Given the description of an element on the screen output the (x, y) to click on. 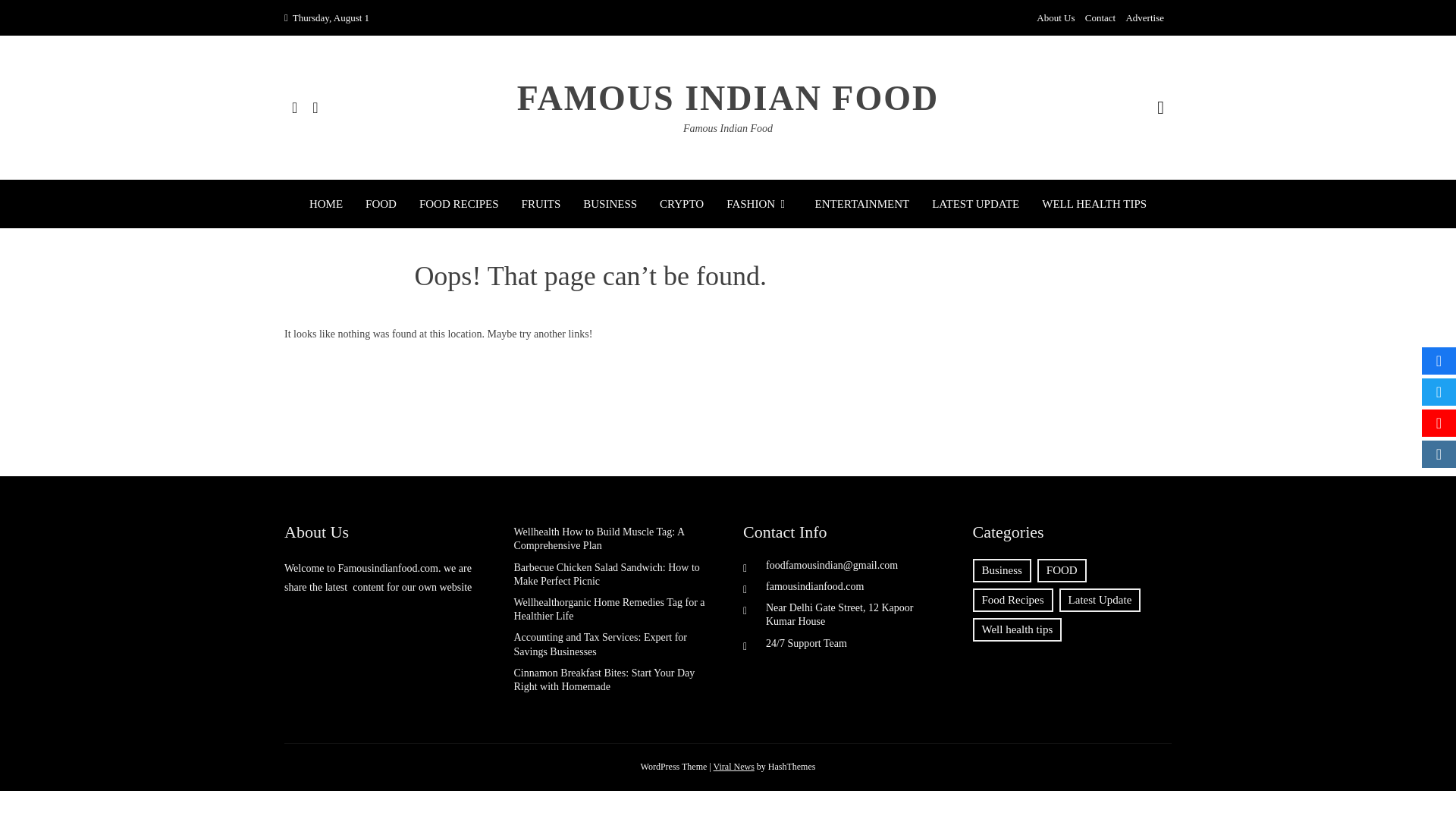
FOOD RECIPES (459, 203)
FOOD (1061, 570)
FRUITS (540, 203)
Cinnamon Breakfast Bites: Start Your Day Right with Homemade (604, 679)
Accounting and Tax Services: Expert for Savings Businesses (600, 643)
Famous Indian Food (727, 128)
Wellhealthorganic Home Remedies Tag for a Healthier Life (608, 609)
ENTERTAINMENT (862, 203)
About Us (1055, 17)
FOOD (380, 203)
Contact (1099, 17)
Well health tips (1016, 629)
BUSINESS (610, 203)
Business (1001, 570)
LATEST UPDATE (975, 203)
